Given the description of an element on the screen output the (x, y) to click on. 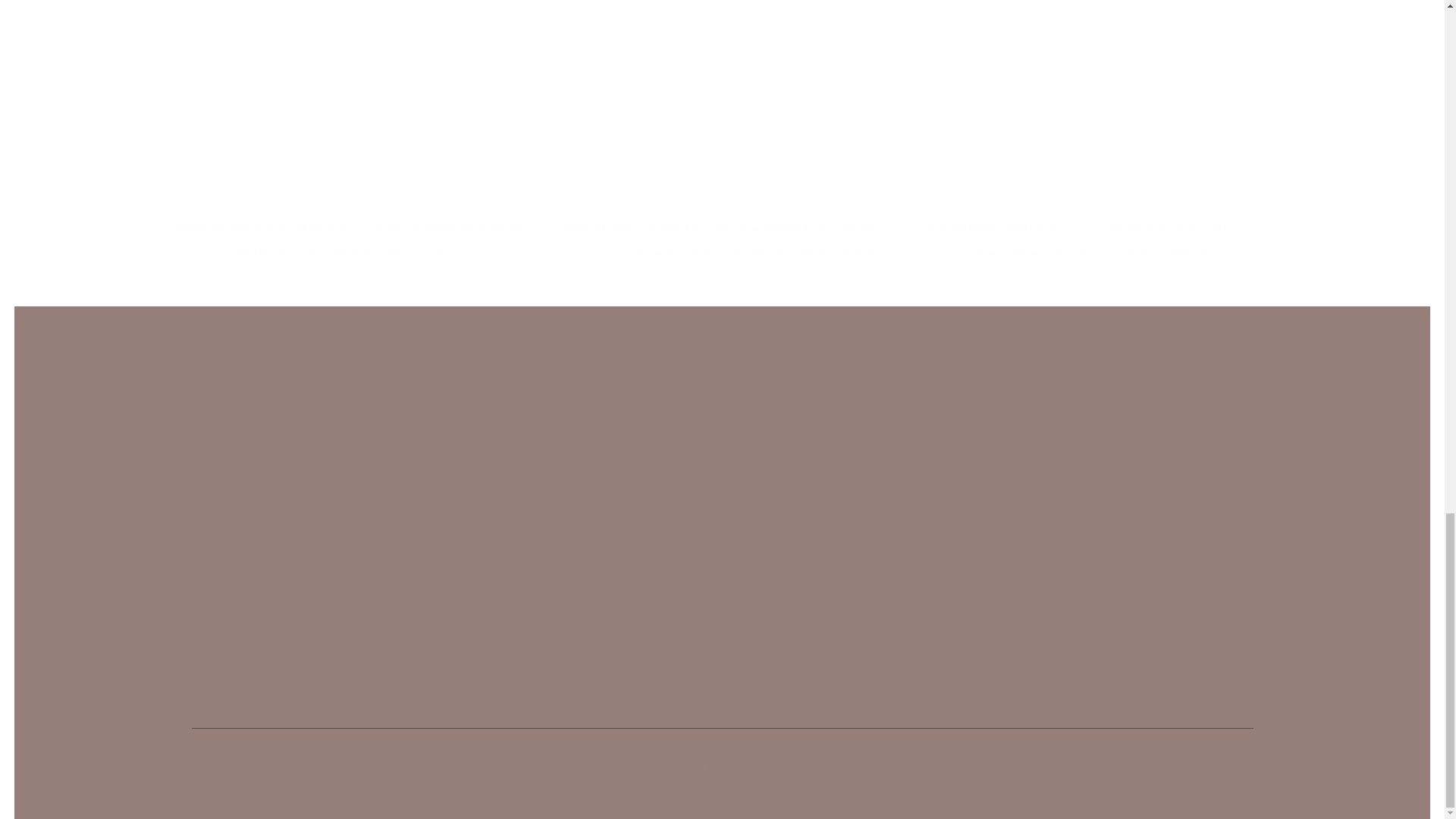
Preview a Wedding Gallery (709, 175)
Preview a Family Session (1083, 175)
View Our Videos (339, 175)
